Given the description of an element on the screen output the (x, y) to click on. 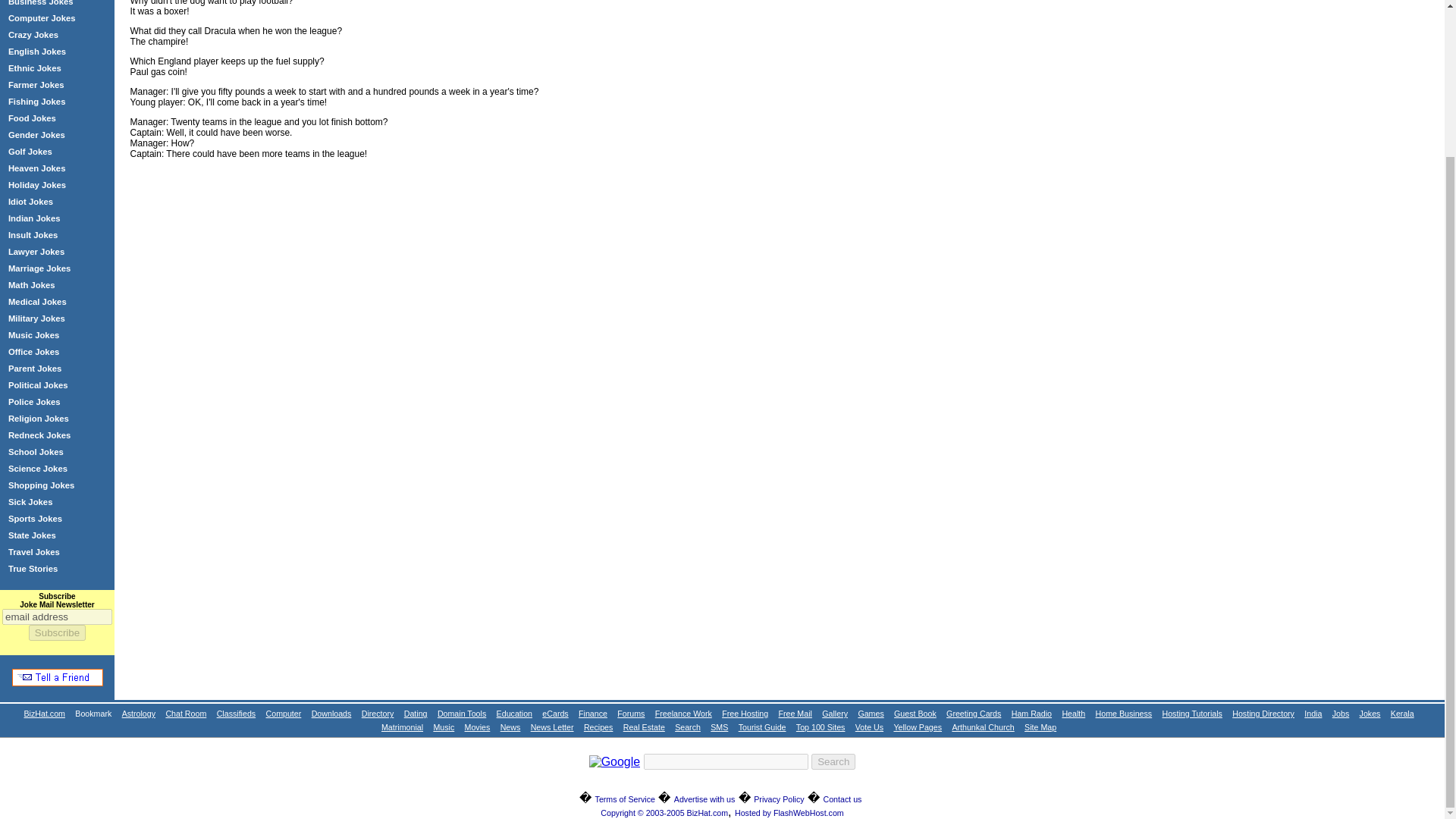
Gender Jokes (36, 134)
Fishing Jokes (36, 101)
Insult Jokes (33, 234)
Marriage Jokes (39, 267)
Subscribe (57, 632)
Indian Jokes (34, 217)
email address (57, 616)
Political Jokes (38, 384)
Computer Jokes (41, 17)
Business Jokes (41, 2)
Idiot Jokes (30, 201)
Police Jokes (34, 401)
Food Jokes (32, 117)
Parent Jokes (35, 368)
Search (833, 761)
